Given the description of an element on the screen output the (x, y) to click on. 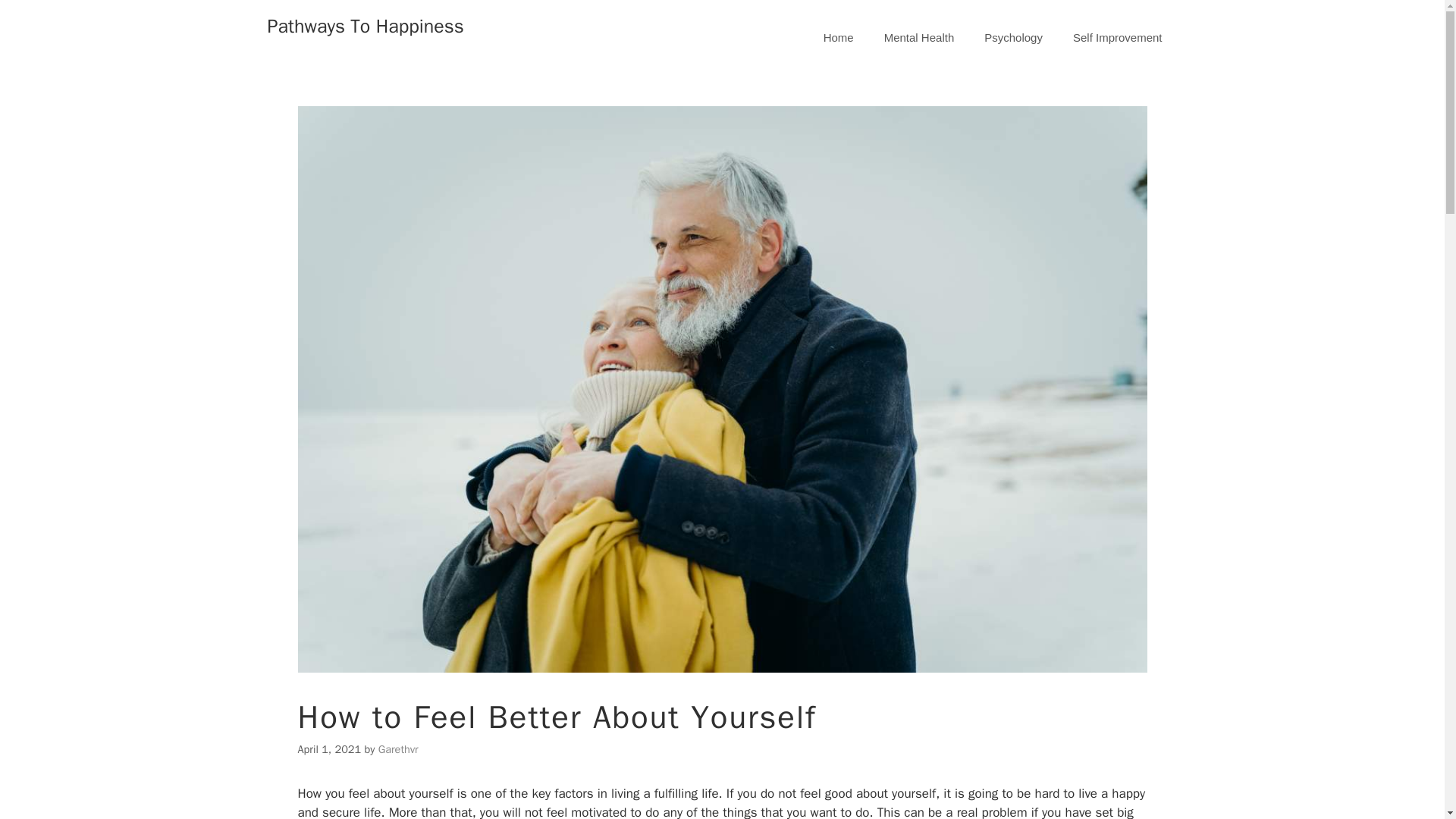
Self Improvement (1117, 37)
Pathways To Happiness (364, 25)
View all posts by Garethvr (398, 748)
Home (838, 37)
Garethvr (398, 748)
Mental Health (919, 37)
Psychology (1013, 37)
